Given the description of an element on the screen output the (x, y) to click on. 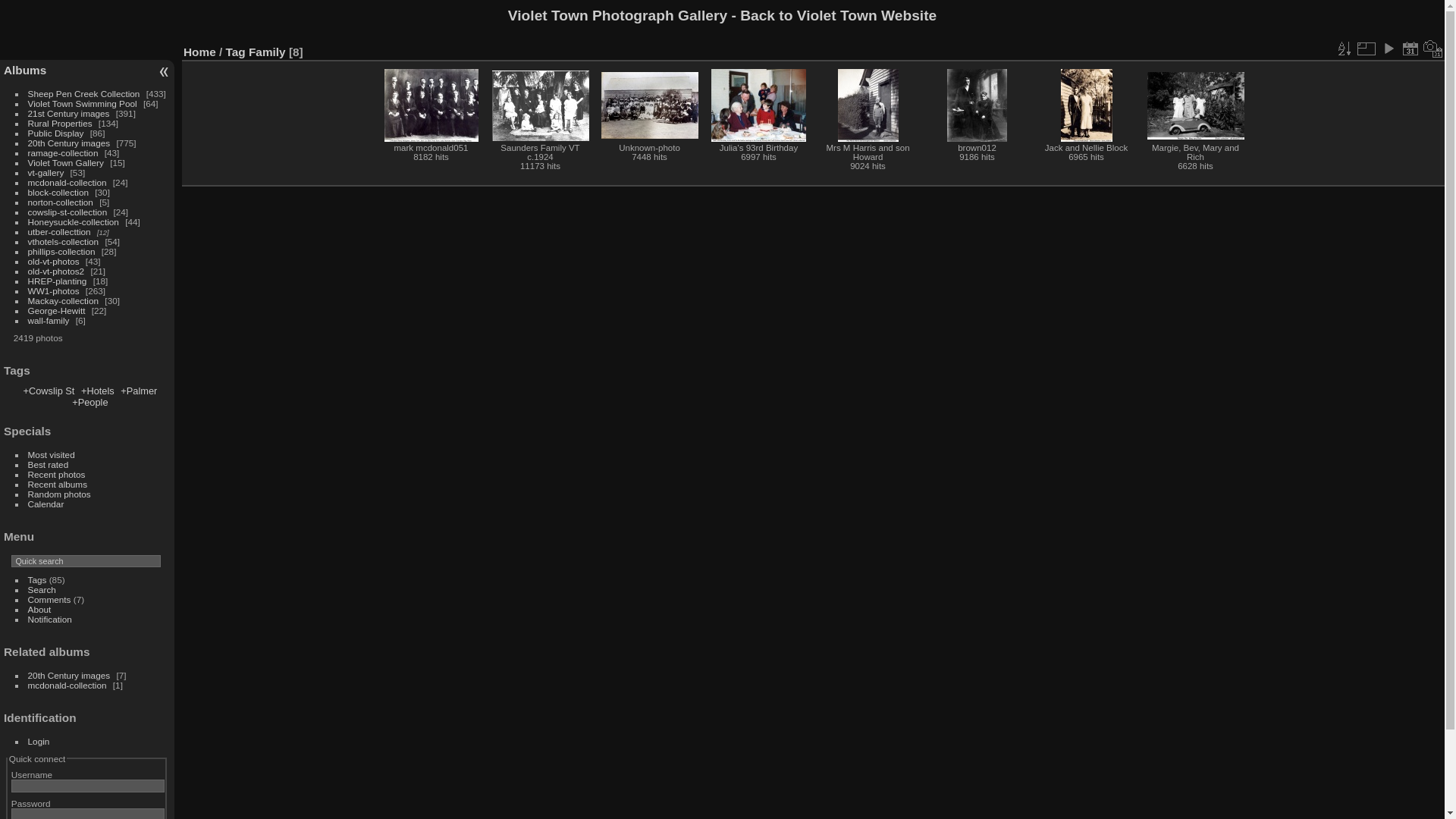
Rural Properties Element type: text (60, 123)
Photo sizes Element type: hover (1365, 48)
Search Element type: text (42, 589)
Most visited Element type: text (51, 454)
Honeysuckle-collection Element type: text (73, 221)
Albums Element type: text (24, 69)
+Palmer Element type: text (138, 390)
Mrs M Harris and son Howard (9024 visits) Element type: hover (867, 105)
Back to Violet Town Website Element type: text (838, 15)
vthotels-collection Element type: text (63, 241)
Login Element type: text (39, 741)
20th Century images Element type: text (69, 675)
old-vt-photos Element type: text (53, 261)
phillips-collection Element type: text (61, 251)
Family Element type: text (266, 51)
Recent photos Element type: text (56, 474)
Violet Town Gallery Element type: text (65, 162)
20th Century images Element type: text (69, 142)
Mackay-collection Element type: text (63, 300)
vt-gallery Element type: text (46, 172)
slideshow Element type: hover (1388, 48)
21st Century images Element type: text (68, 113)
Calendar Element type: text (46, 503)
block-collection Element type: text (58, 192)
Best rated Element type: text (48, 464)
+Cowslip St Element type: text (48, 390)
Margie, Bev, Mary and Rich (6628 visits) Element type: hover (1194, 105)
+Hotels Element type: text (97, 390)
Unknown-photo (7448 visits) Element type: hover (648, 105)
Tags Element type: text (37, 579)
About Element type: text (39, 609)
Jack and Nellie Block (6965 visits, rating score 2.62) Element type: hover (1085, 105)
Public Display Element type: text (56, 133)
mcdonald-collection Element type: text (67, 182)
ramage-collection Element type: text (63, 152)
Tag Element type: text (235, 51)
wall-family Element type: text (48, 320)
Comments Element type: text (49, 599)
WW1-photos Element type: text (53, 290)
Sort order Element type: hover (1343, 48)
Julia's 93rd Birthday (6997 visits) Element type: hover (758, 105)
Violet Town Swimming Pool Element type: text (82, 103)
Sheep Pen Creek Collection Element type: text (84, 93)
HREP-planting Element type: text (57, 280)
George-Hewitt Element type: text (56, 310)
display a calendar by creation date Element type: hover (1433, 48)
cowslip-st-collection Element type: text (67, 211)
Home Element type: text (199, 51)
display a calendar by posted date Element type: hover (1410, 48)
mcdonald-collection Element type: text (67, 685)
+People Element type: text (89, 401)
Notification Element type: text (50, 619)
utber-collecttion Element type: text (59, 231)
Recent albums Element type: text (57, 484)
norton-collection Element type: text (60, 202)
brown012 (9186 visits) Element type: hover (977, 105)
old-vt-photos2 Element type: text (56, 271)
Random photos Element type: text (59, 493)
